Given the description of an element on the screen output the (x, y) to click on. 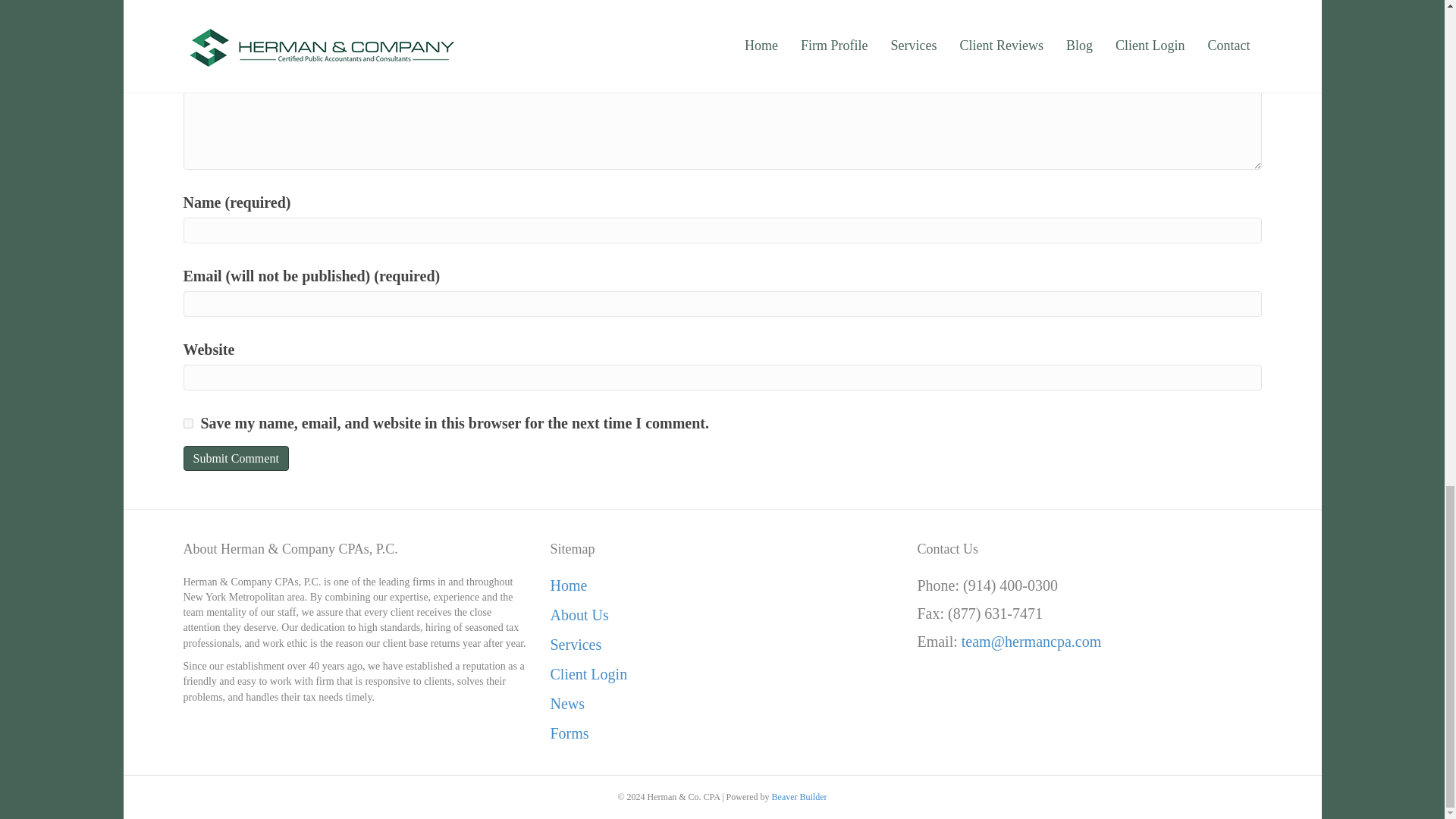
About Us (579, 614)
News (567, 703)
Services (575, 644)
WordPress Page Builder Plugin (799, 796)
yes (188, 423)
Home (568, 585)
Beaver Builder (799, 796)
Forms (569, 733)
Submit Comment (235, 457)
Client Login (588, 673)
Submit Comment (235, 457)
